Given the description of an element on the screen output the (x, y) to click on. 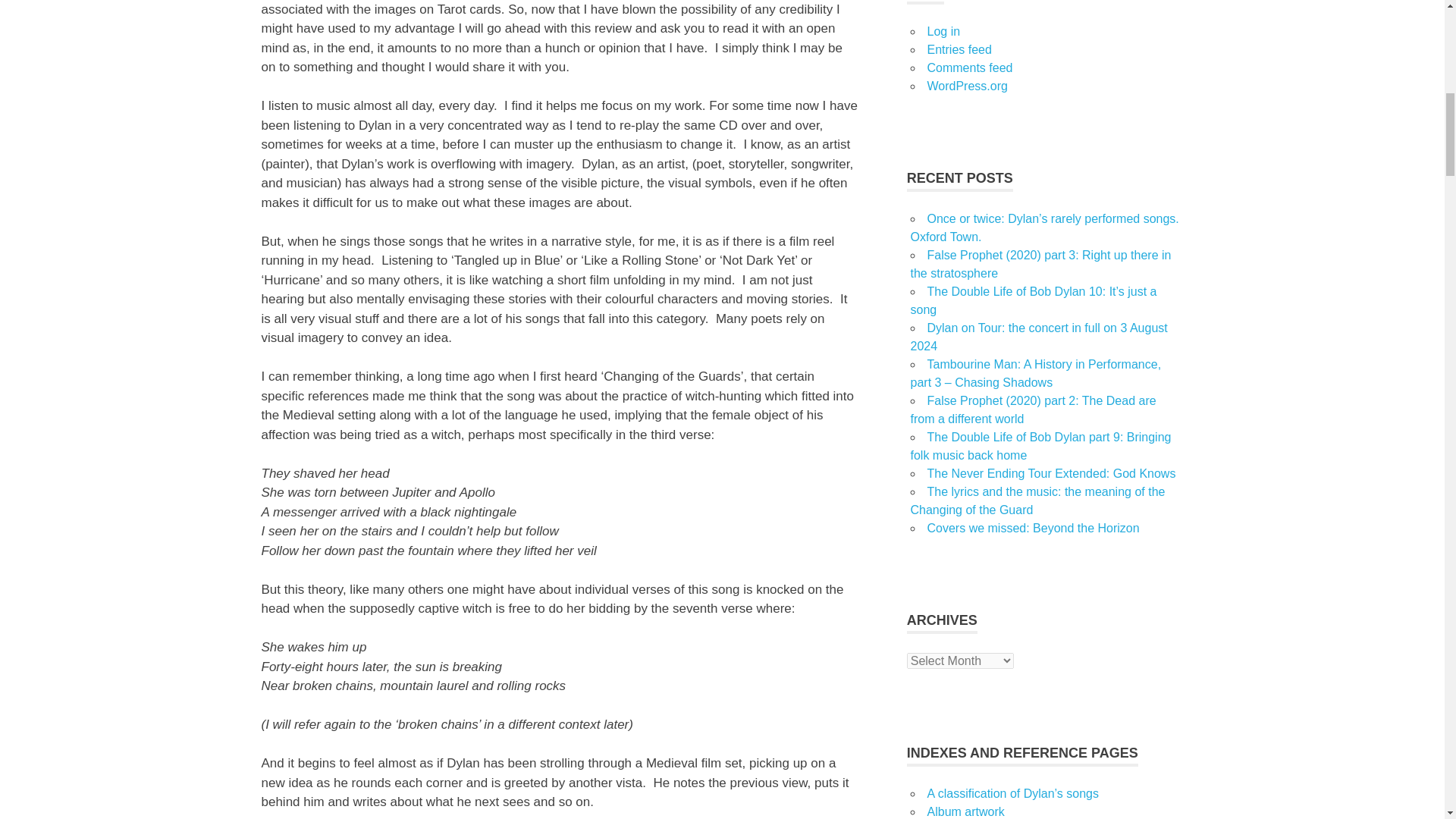
WordPress.org (966, 85)
Log in (942, 31)
Comments feed (968, 67)
Dylan on Tour: the concert in full on 3 August 2024 (1038, 336)
Entries feed (958, 49)
